Given the description of an element on the screen output the (x, y) to click on. 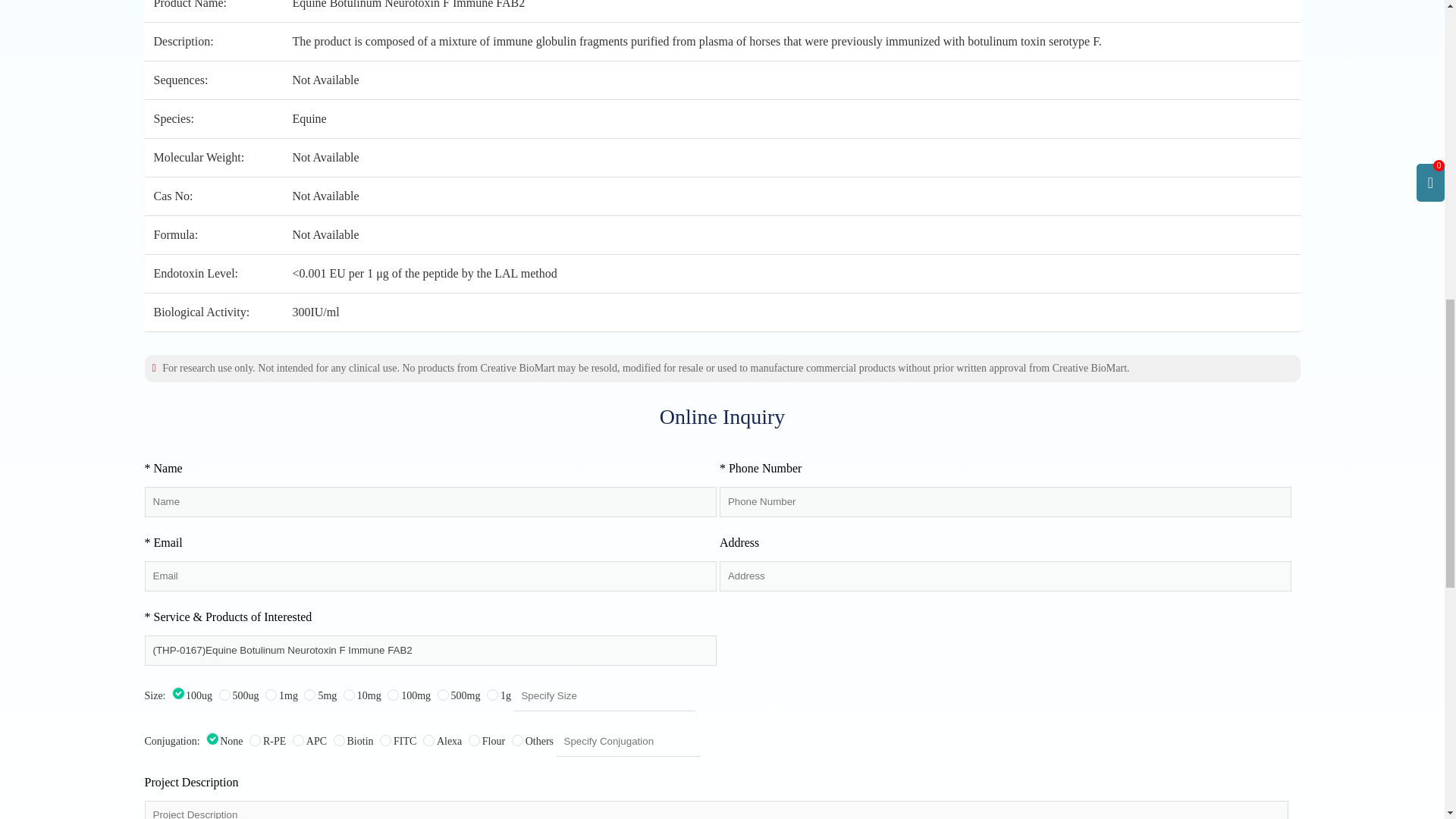
None (211, 737)
10mg (349, 695)
500mg (443, 695)
R-PE (254, 740)
100ug (177, 692)
500ug (224, 695)
100mg (392, 695)
1g (491, 695)
5mg (309, 695)
1mg (270, 695)
